Given the description of an element on the screen output the (x, y) to click on. 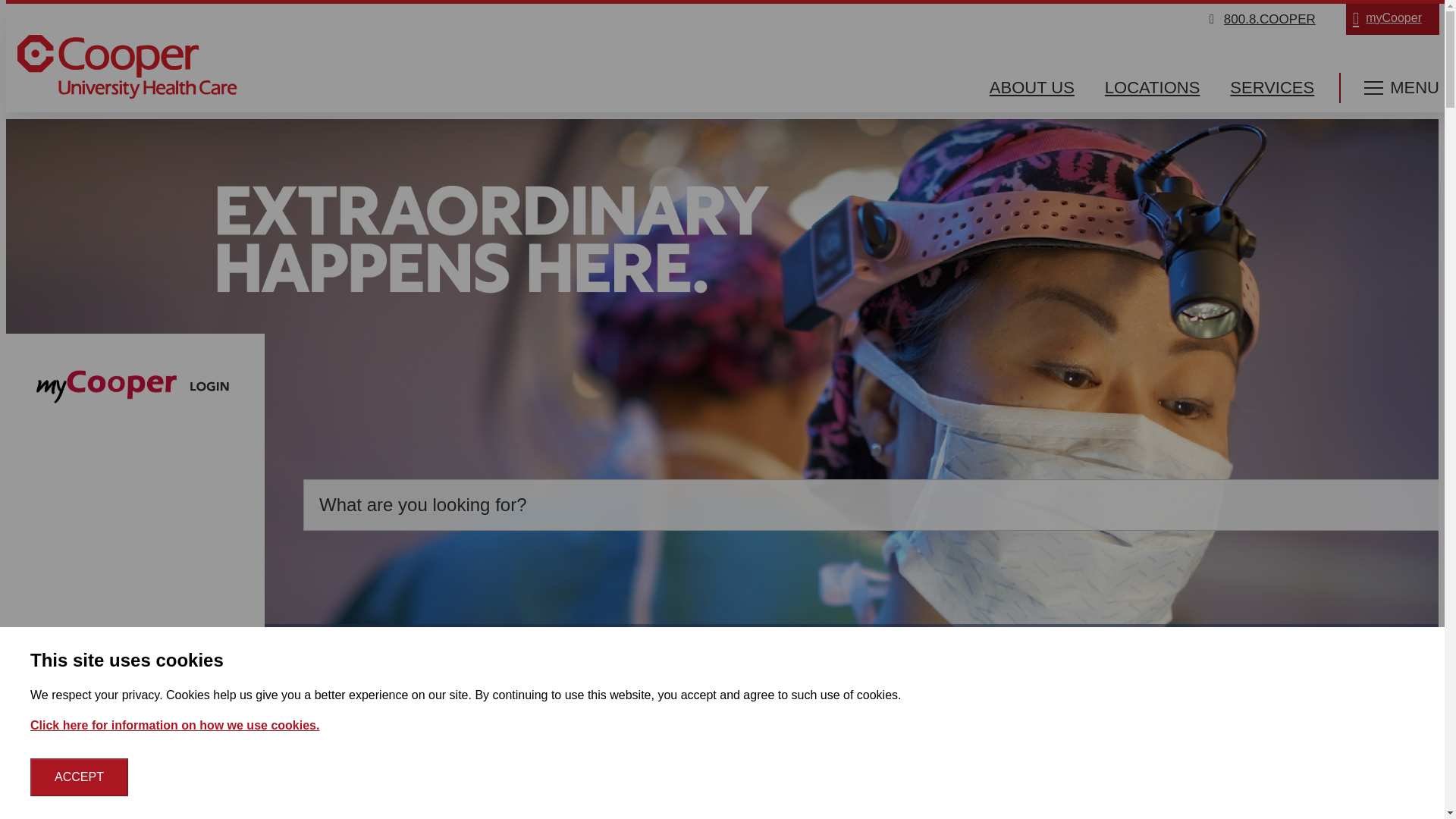
800.8.COOPER (1270, 19)
ABOUT US (1032, 87)
SERVICES (1272, 87)
LOCATIONS (1152, 87)
Cooper University Health Care (127, 69)
